Given the description of an element on the screen output the (x, y) to click on. 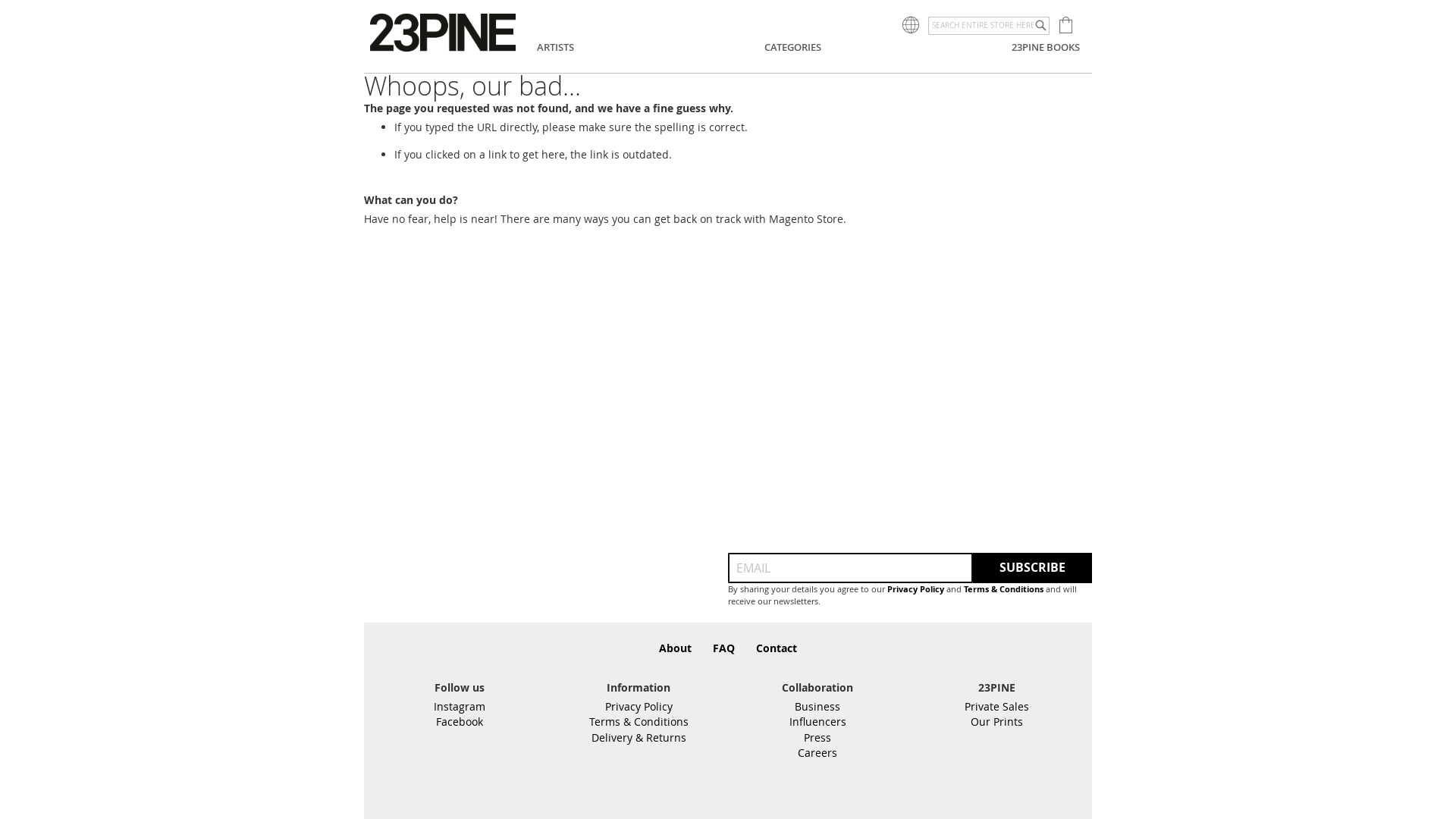
Influencers Element type: text (816, 721)
SUBSCRIBE Element type: text (1032, 567)
Search Element type: text (1040, 25)
My Cart Element type: text (1069, 23)
ARTISTS Element type: text (555, 46)
Contact Element type: text (776, 647)
Careers Element type: text (817, 752)
Facebook Element type: text (459, 721)
Delivery & Returns Element type: text (638, 737)
Privacy Policy Element type: text (915, 589)
Terms & Conditions Element type: text (637, 721)
Business Element type: text (817, 706)
Private Sales Element type: text (996, 706)
Press Element type: text (817, 737)
Instagram Element type: text (459, 706)
23PINE BOOKS Element type: text (1045, 46)
FAQ Element type: text (723, 647)
About Element type: text (674, 647)
Our Prints Element type: text (996, 721)
SUBSCRIBE Element type: text (1032, 567)
Privacy Policy Element type: text (638, 706)
Terms & Conditions Element type: text (1003, 589)
CATEGORIES Element type: text (792, 46)
